Given the description of an element on the screen output the (x, y) to click on. 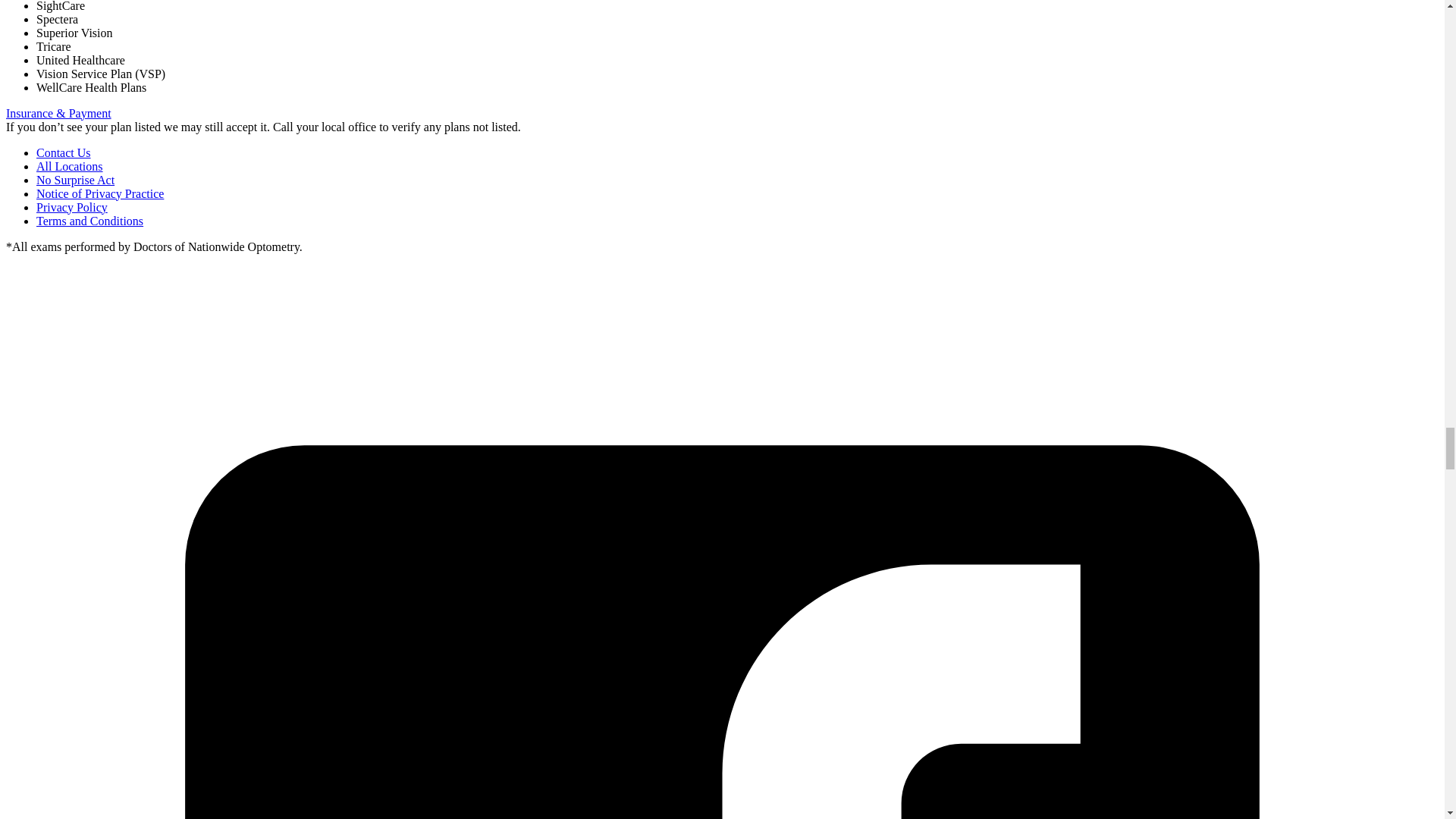
Privacy Policy (71, 206)
All Locations (69, 165)
No Surprise Act (75, 179)
Contact Us (63, 152)
Notice of Privacy Practice (99, 193)
Terms and Conditions (89, 220)
